Given the description of an element on the screen output the (x, y) to click on. 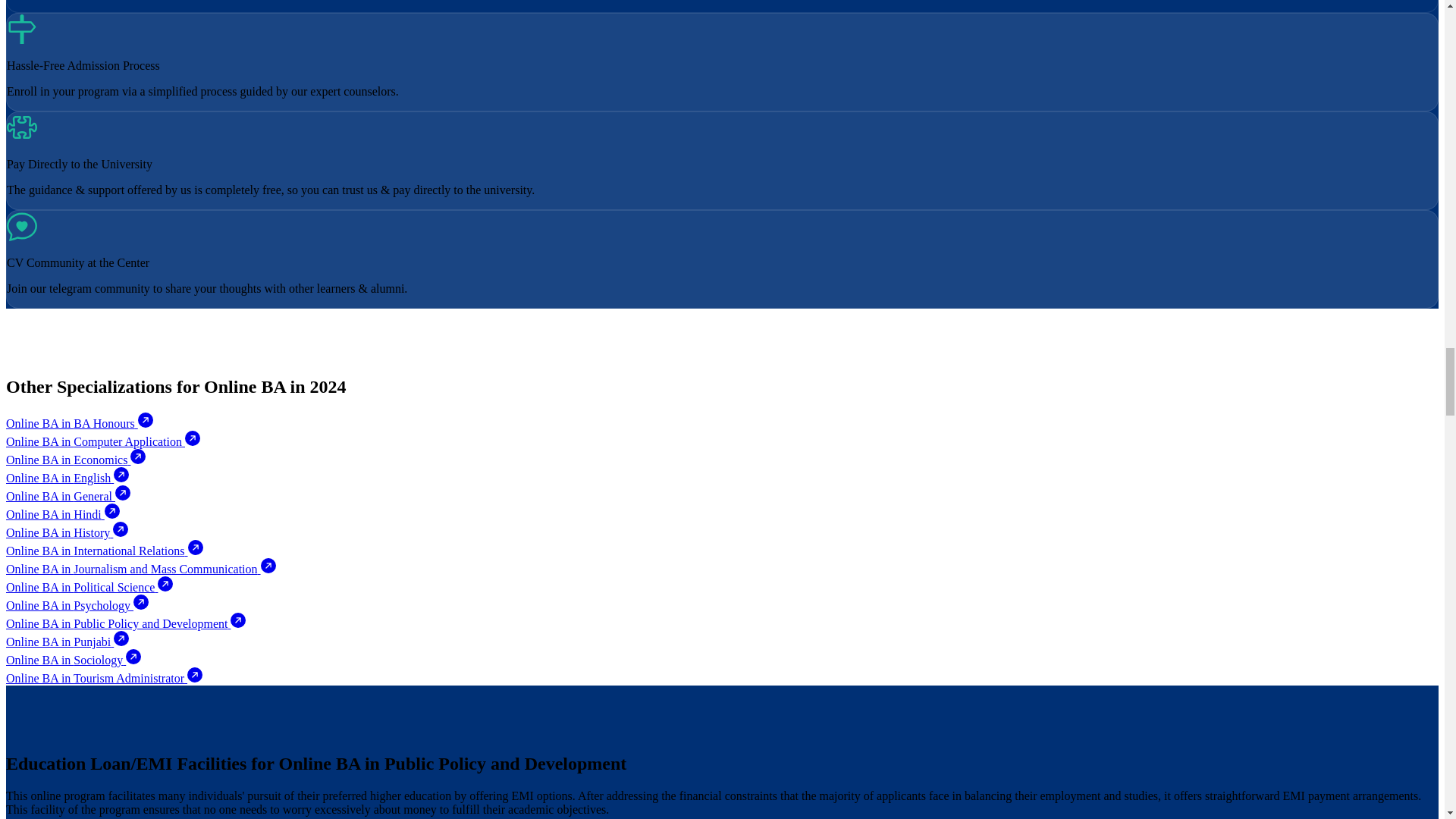
Online BA in Hindi (62, 513)
Online BA in Economics (75, 459)
Online BA in History (66, 532)
Online BA in Computer Application (102, 440)
Online BA in General (68, 495)
Online BA in English (67, 477)
Online BA in International Relations (104, 550)
Online BA in BA Honours (78, 422)
